Given the description of an element on the screen output the (x, y) to click on. 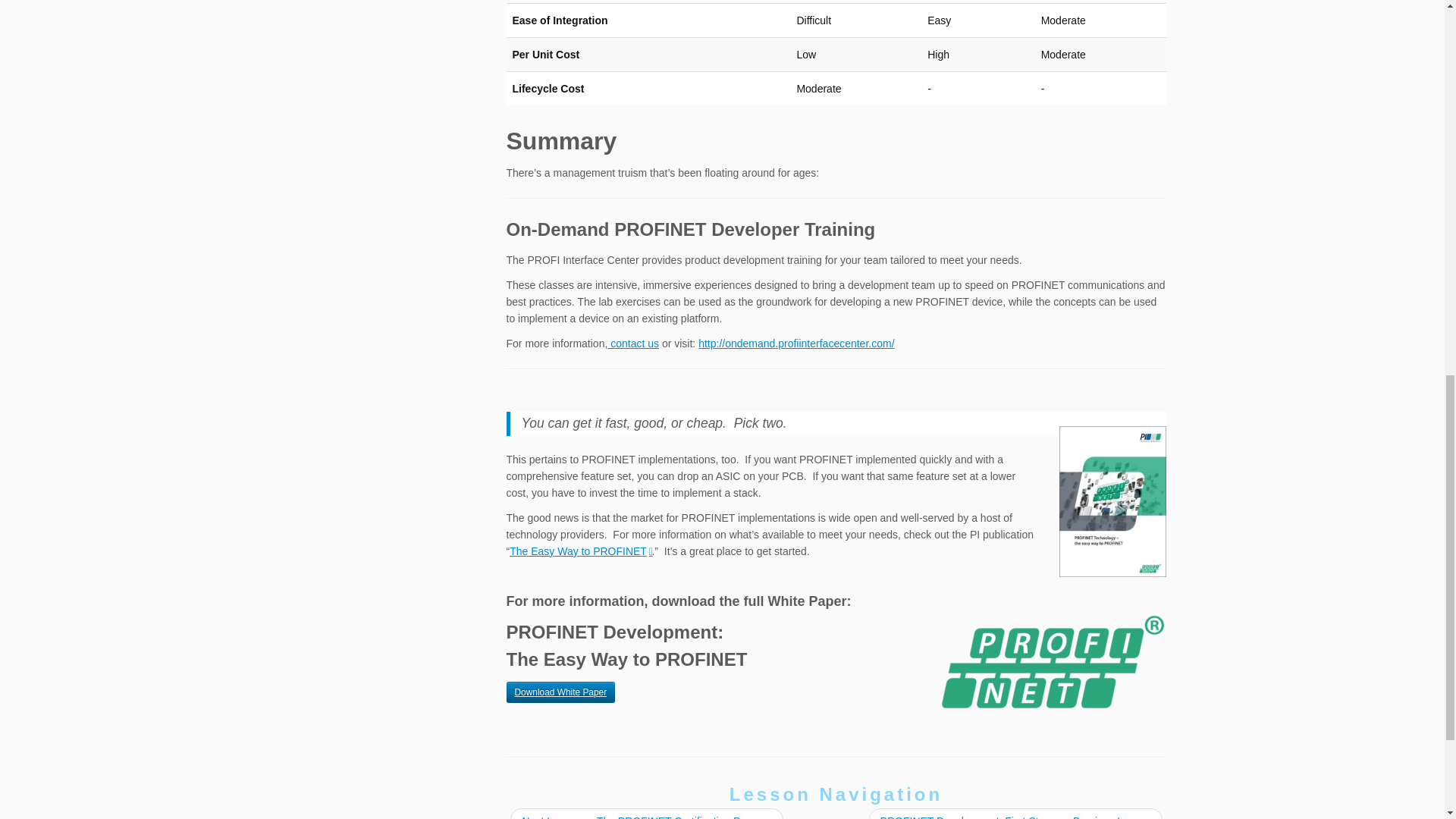
Download White Paper (560, 691)
The Easy Way to PROFINET (579, 551)
contact us (633, 343)
Download White Paper (560, 691)
